Given the description of an element on the screen output the (x, y) to click on. 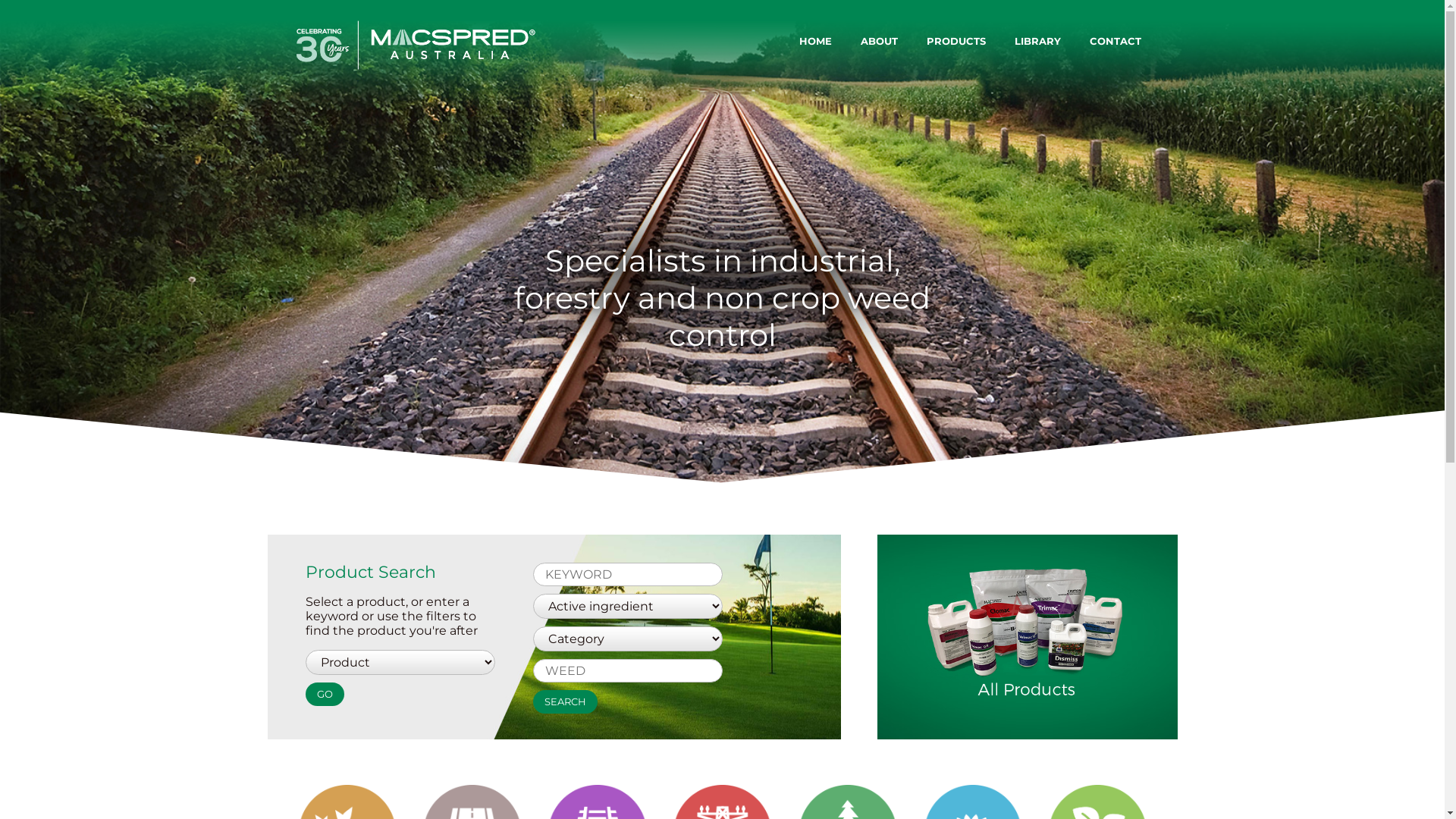
Search Element type: text (564, 701)
LIBRARY Element type: text (1032, 40)
ABOUT Element type: text (874, 40)
PRODUCTS Element type: text (950, 40)
CONTACT Element type: text (1110, 40)
Go Element type: text (323, 694)
HOME Element type: text (809, 40)
